Given the description of an element on the screen output the (x, y) to click on. 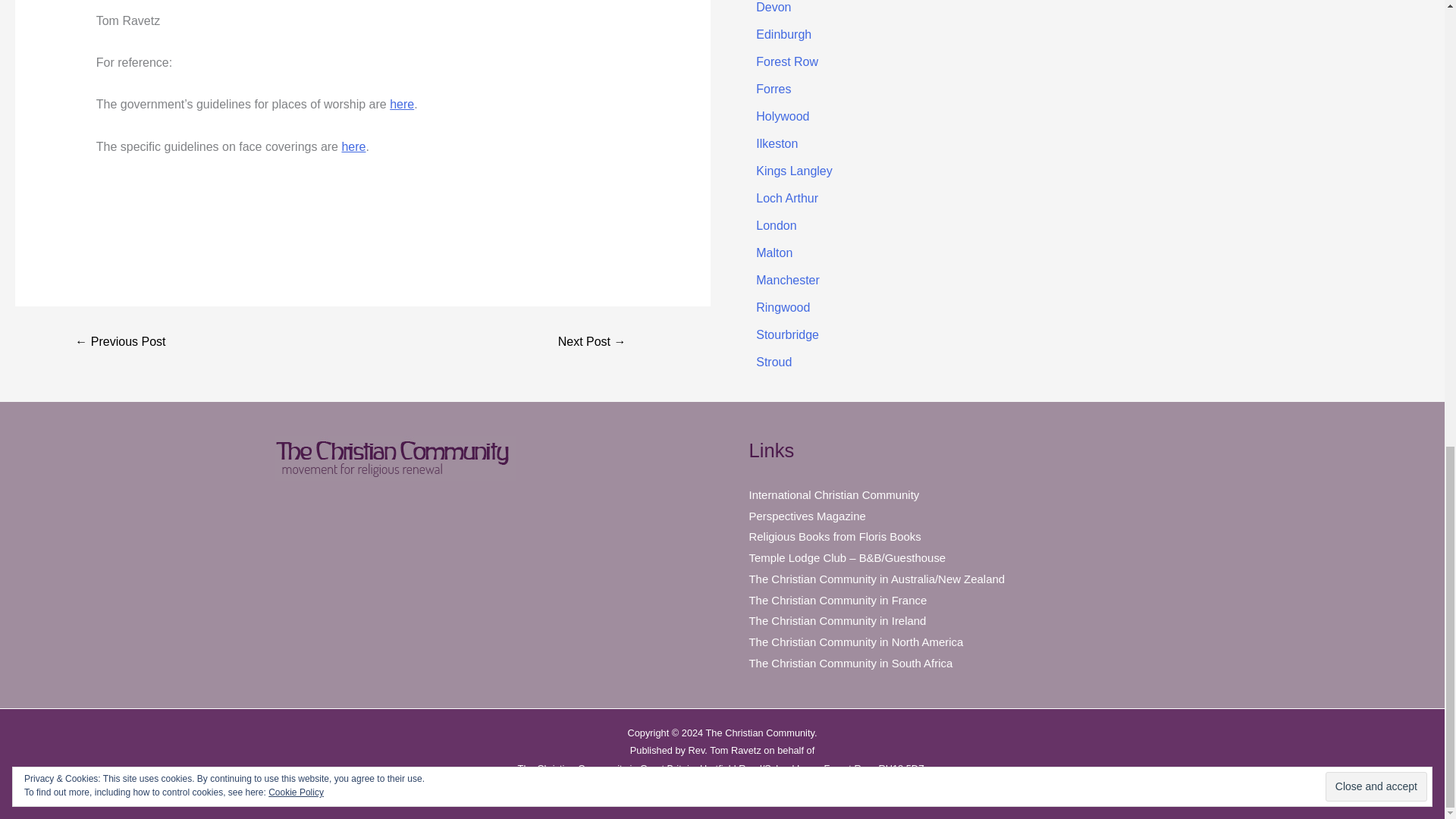
Corrected version of St John's to Michaelmas programme (119, 341)
Homily by Peter van Breda - homelessness (591, 341)
Floris Books (835, 535)
Quarterly magazine of The Christian Community in English (807, 515)
